Given the description of an element on the screen output the (x, y) to click on. 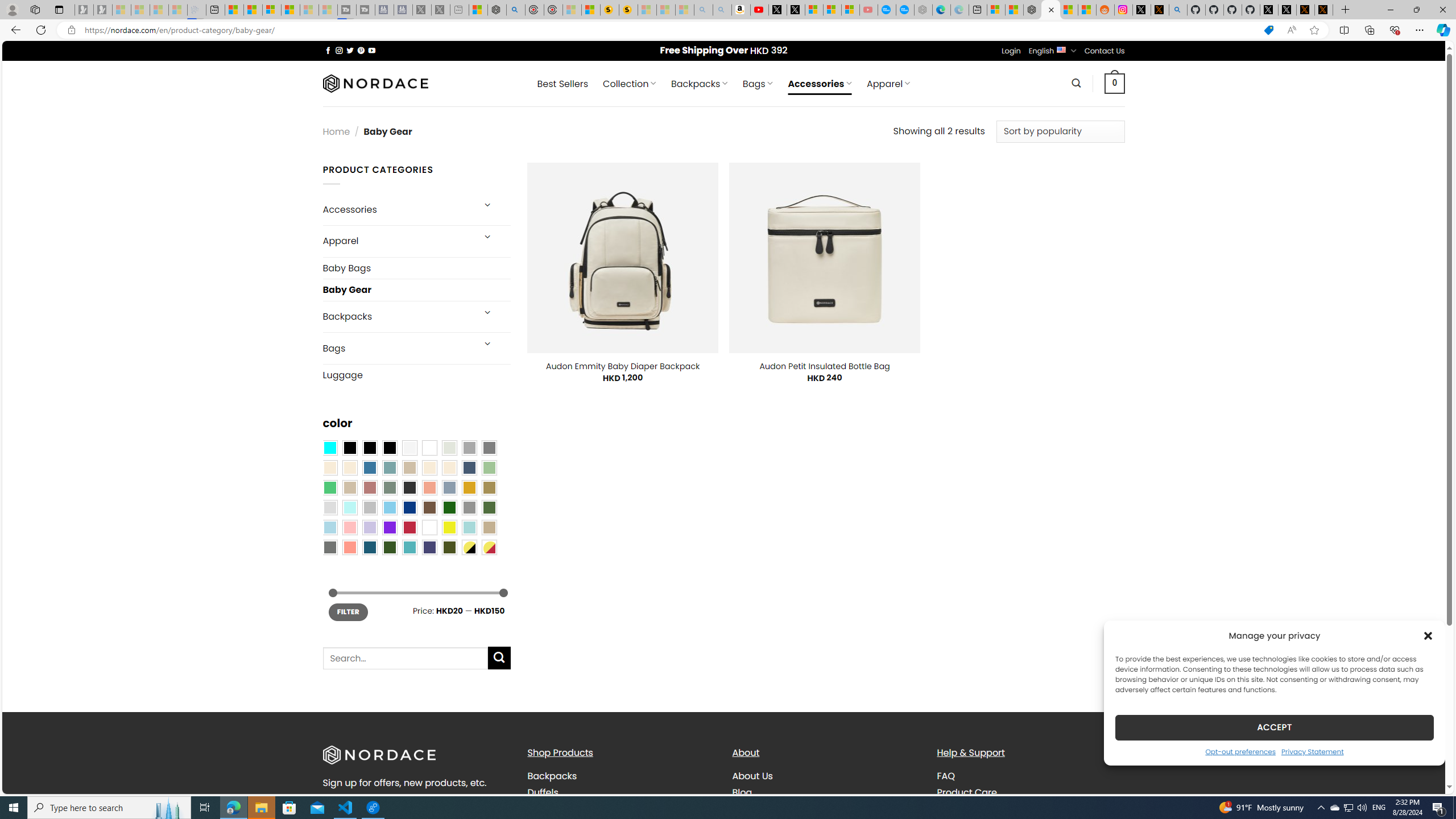
English (1061, 49)
This site has coupons! Shopping in Microsoft Edge (1268, 29)
Aqua Blue (329, 447)
Beige-Brown (349, 467)
